Given the description of an element on the screen output the (x, y) to click on. 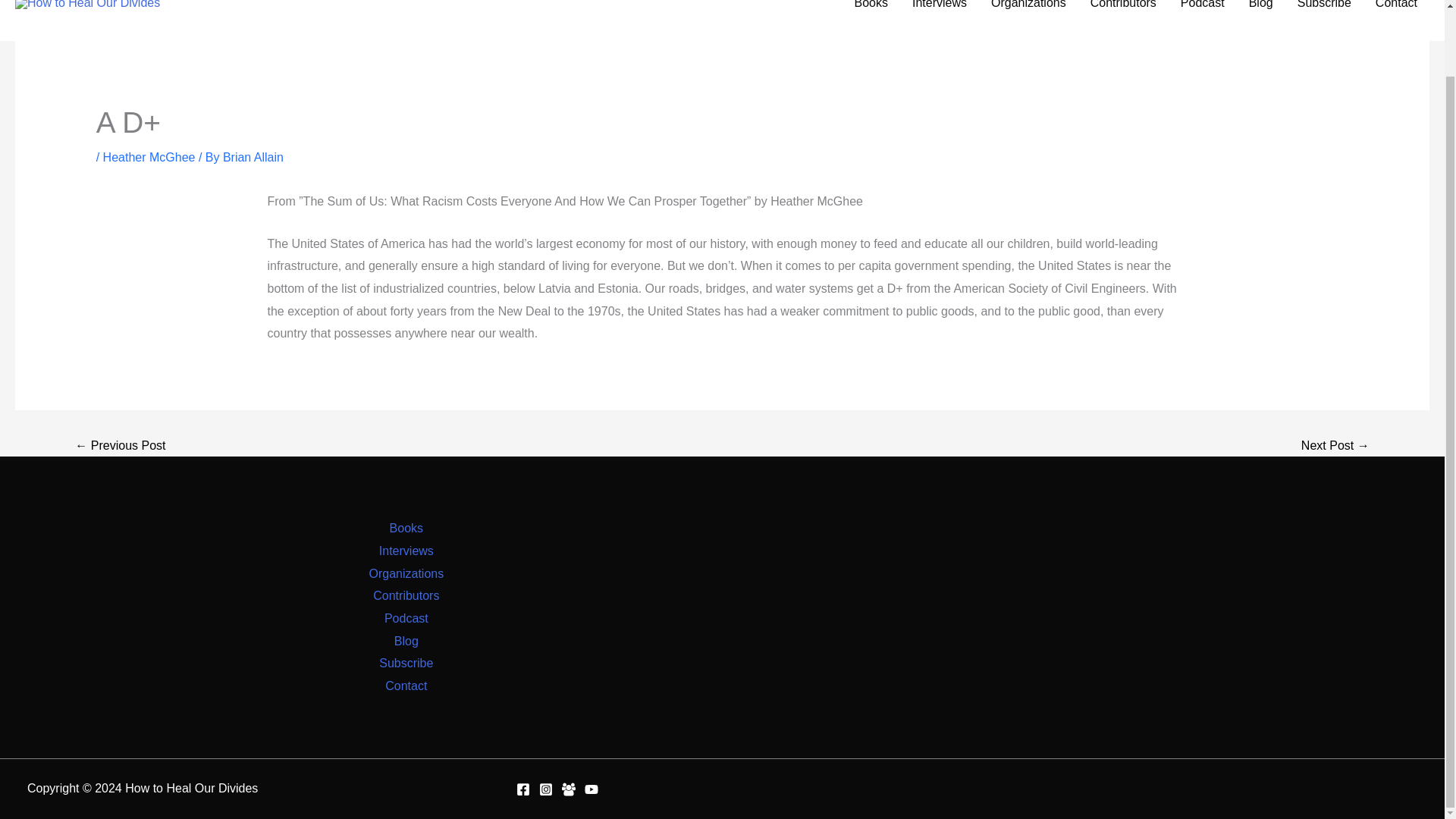
Heather McGhee (149, 156)
Blog (1260, 14)
Organizations (1028, 14)
Interviews (405, 550)
Brian Allain (252, 156)
Podcast (406, 618)
Contributors (405, 595)
Contact (405, 685)
Blog (406, 640)
Subscribe (405, 662)
Interviews (938, 14)
Books (870, 14)
View all posts by Brian Allain (252, 156)
Books (406, 527)
Moving Outside Our Comfort Zones (1334, 445)
